Given the description of an element on the screen output the (x, y) to click on. 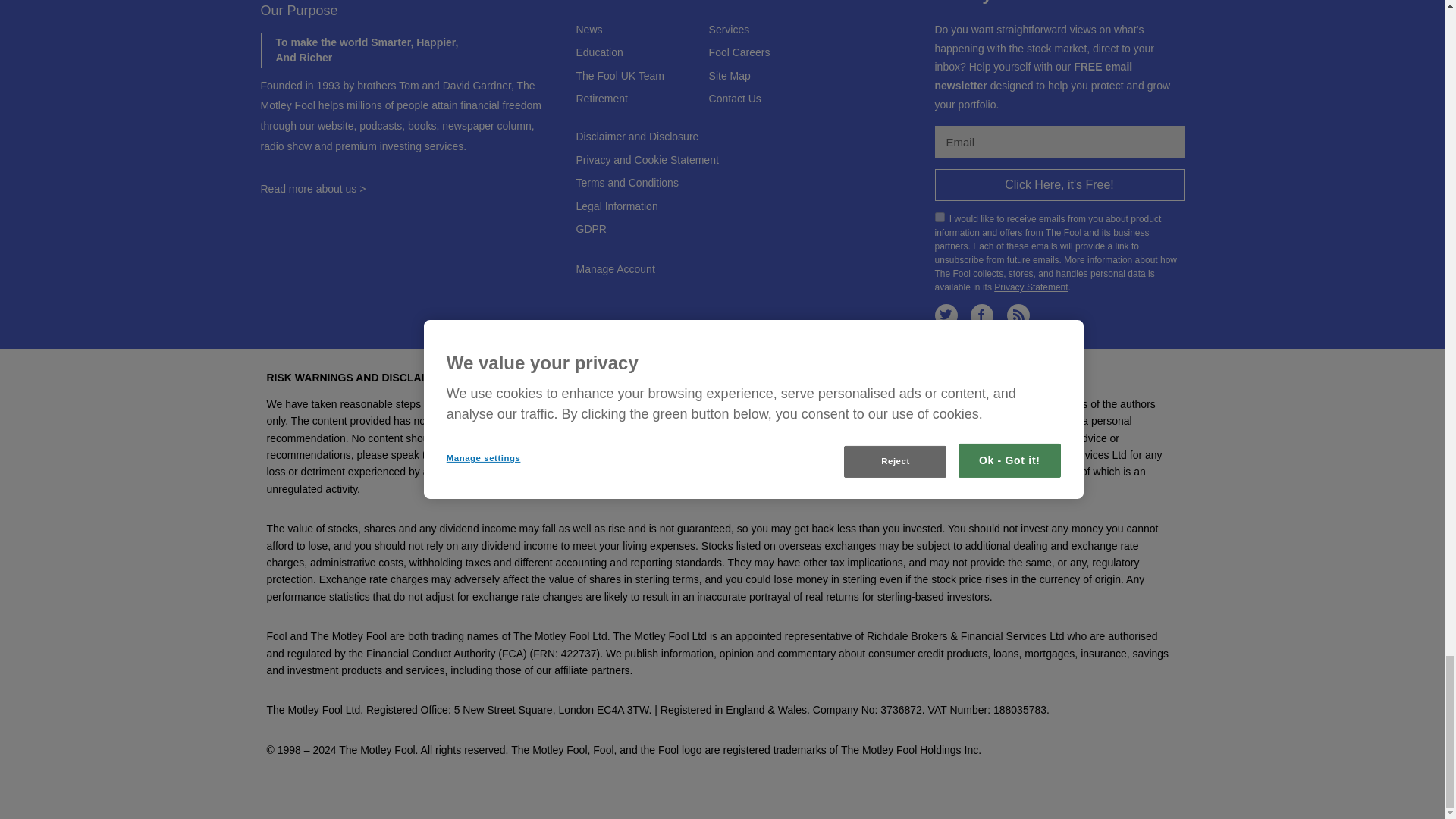
true (938, 216)
